Given the description of an element on the screen output the (x, y) to click on. 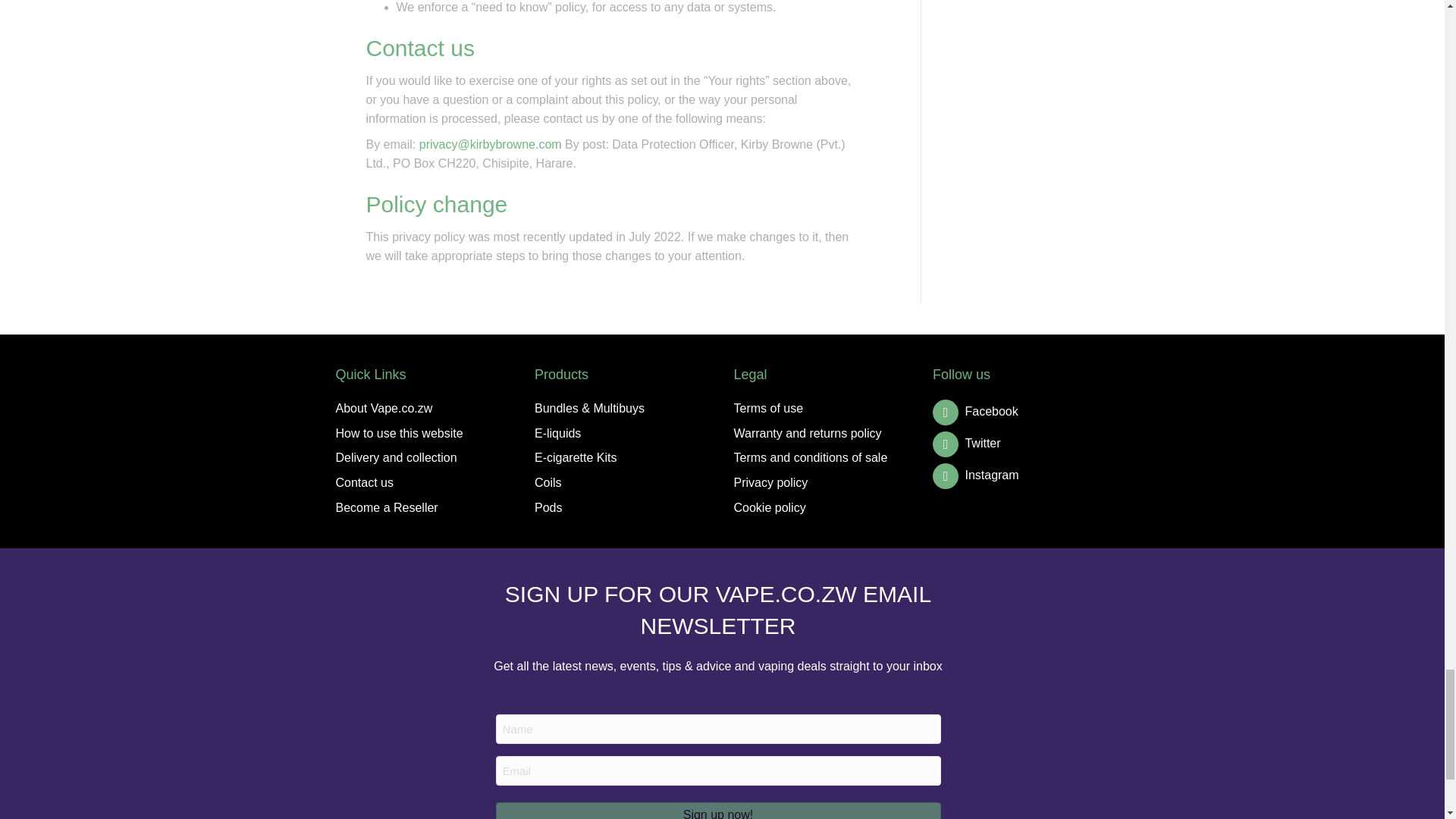
Instagram (976, 474)
Facebook (975, 410)
Sign up now! (718, 810)
Twitter (967, 442)
